Given the description of an element on the screen output the (x, y) to click on. 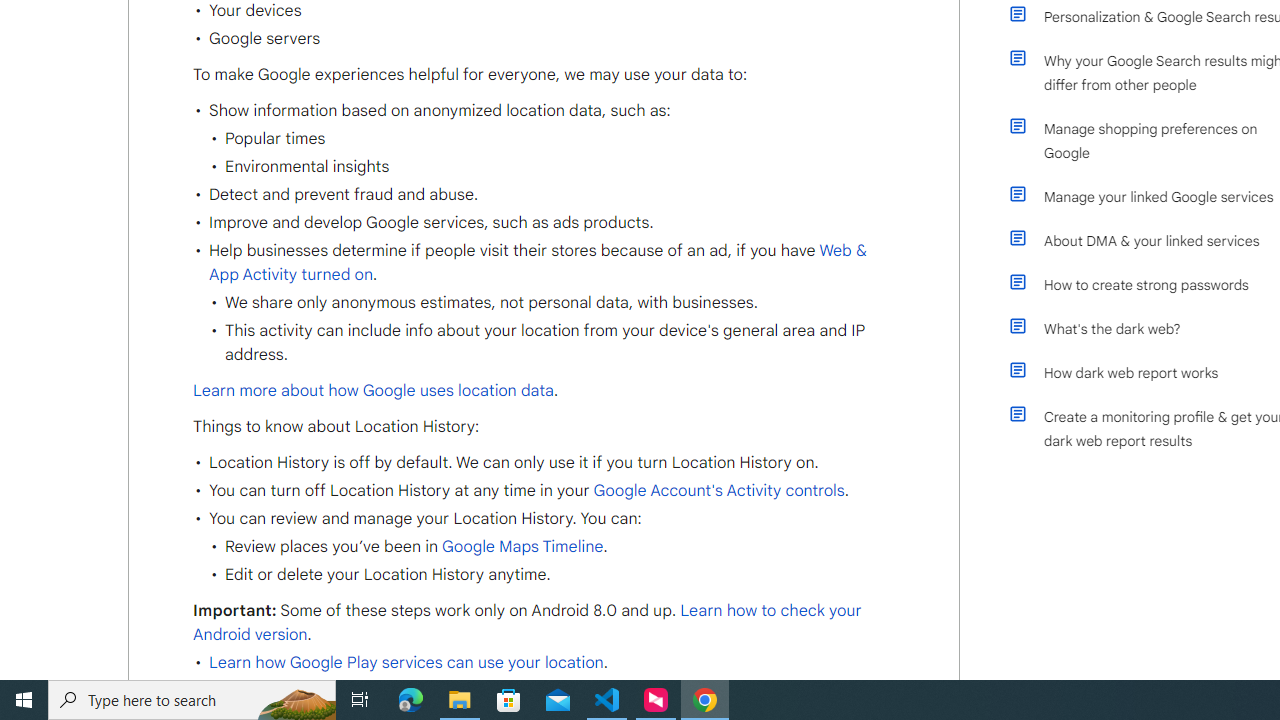
Learn how Google Play services can use your location (406, 663)
 Google Account's Activity controls (716, 490)
Learn more about how Google uses location data (373, 390)
Web & App Activity turned on (537, 263)
Learn how to check your Android version (527, 623)
Google Maps Timeline (522, 547)
